Given the description of an element on the screen output the (x, y) to click on. 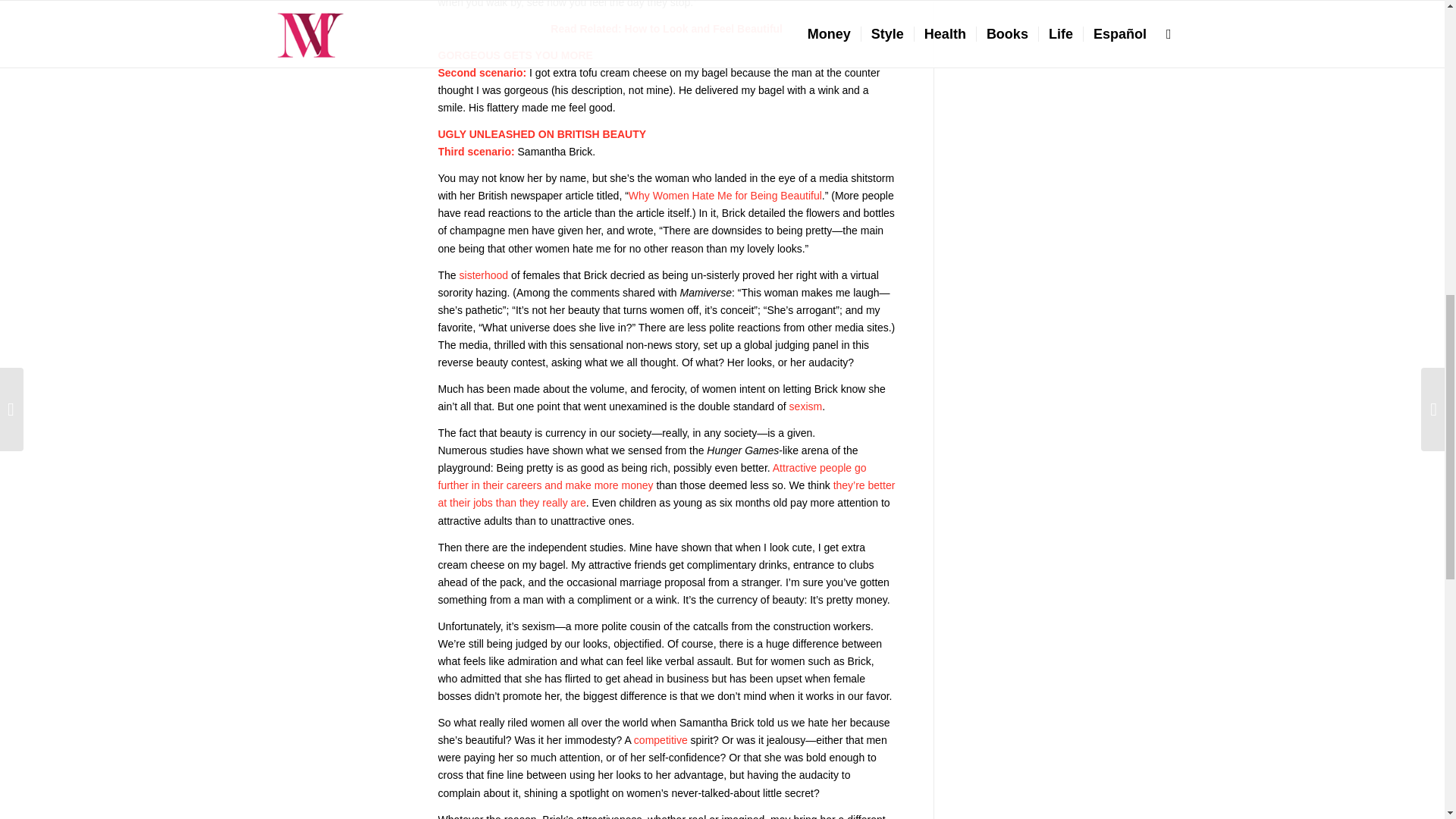
How to Look and Feel Beautiful (703, 28)
sexism (805, 406)
Sisterhood is a Powerful Thing (484, 275)
Seth Rogen Needs a Massive Correction (805, 406)
Moms Vs. Moms: The Pain and Isolation of Mompetition (660, 739)
sisterhood (484, 275)
competitive (660, 739)
Why Women Hate Me for Being Beautiful (725, 195)
